Given the description of an element on the screen output the (x, y) to click on. 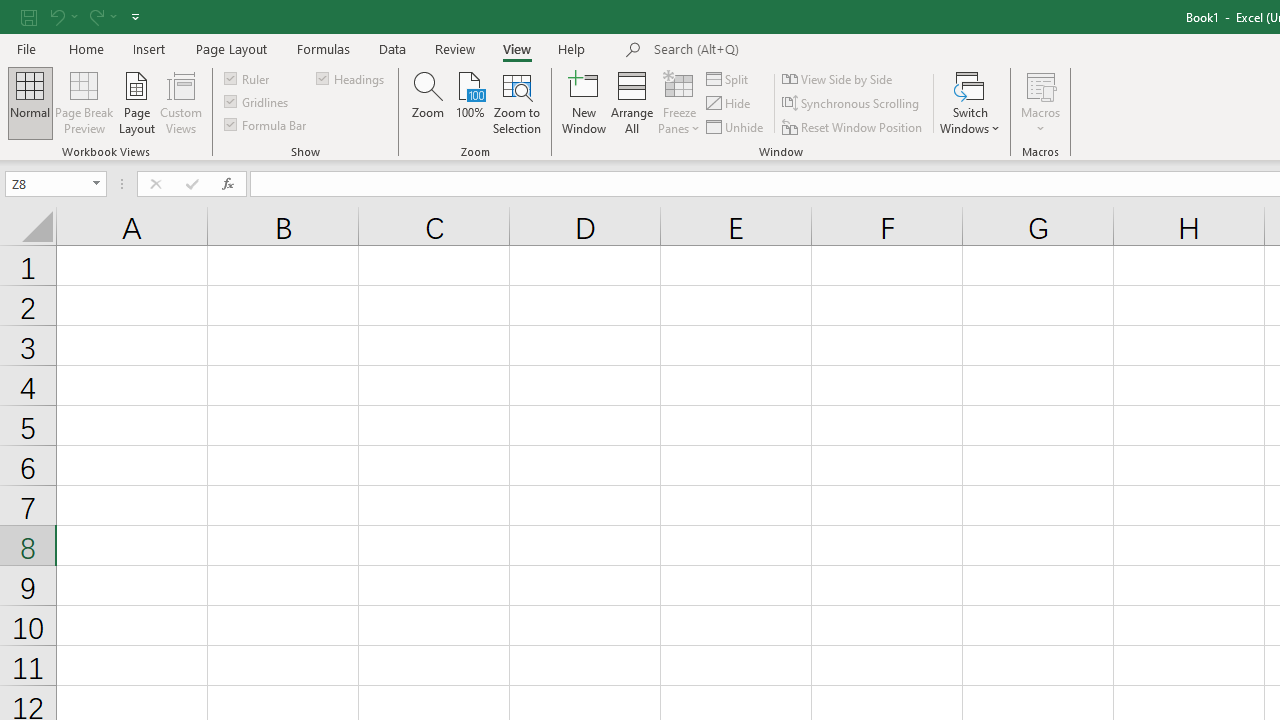
View Macros (1040, 84)
Reset Window Position (854, 126)
Switch Windows (970, 102)
Freeze Panes (678, 102)
Custom Views... (180, 102)
Hide (729, 103)
Unhide... (736, 126)
Synchronous Scrolling (852, 103)
